Given the description of an element on the screen output the (x, y) to click on. 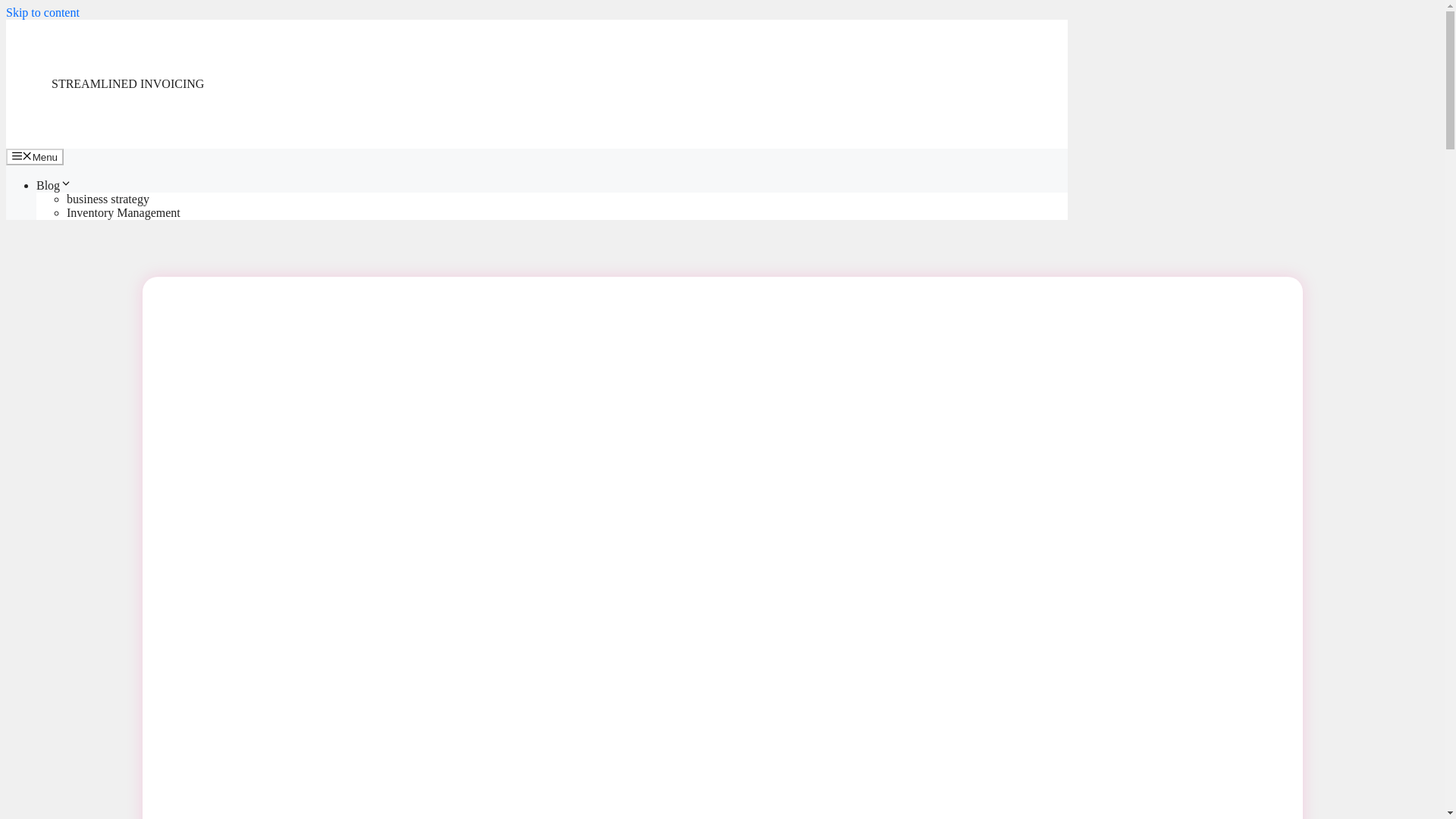
Menu (34, 156)
Skip to content (42, 11)
Inventory Management (123, 212)
business strategy (107, 198)
STREAMLINED INVOICING (126, 83)
Blog (53, 185)
Skip to content (42, 11)
